Given the description of an element on the screen output the (x, y) to click on. 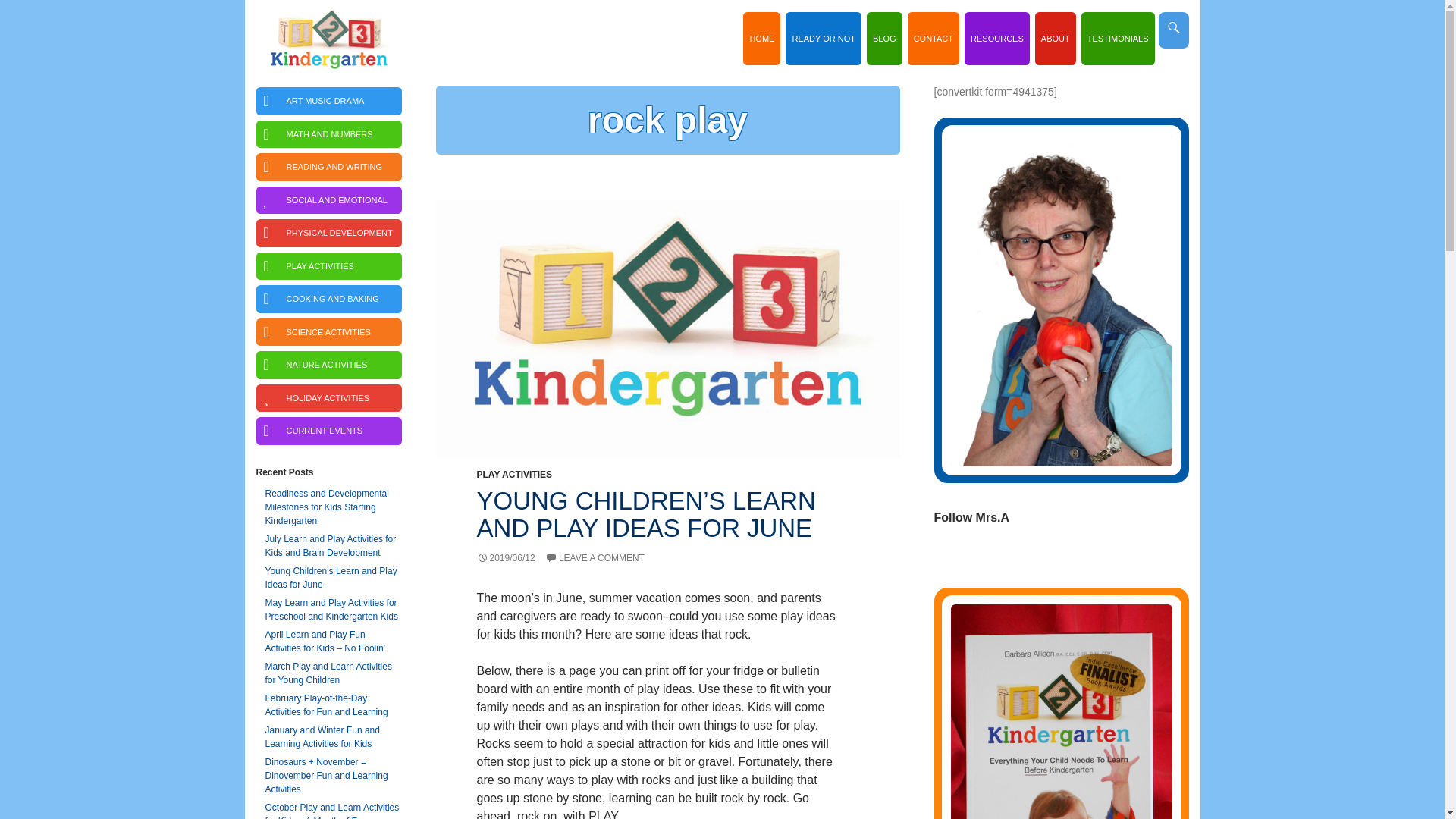
LEAVE A COMMENT (594, 557)
RESOURCES (996, 38)
google-plus (1102, 559)
SOCIAL AND EMOTIONAL (328, 200)
PLAY ACTIVITIES (513, 474)
youtube (1085, 559)
MATH AND NUMBERS (1061, 789)
CONTACT (328, 133)
linkedin (933, 38)
pinterest (1053, 559)
twitter (1069, 559)
facebook (1036, 559)
PHYSICAL DEVELOPMENT (1019, 559)
